Given the description of an element on the screen output the (x, y) to click on. 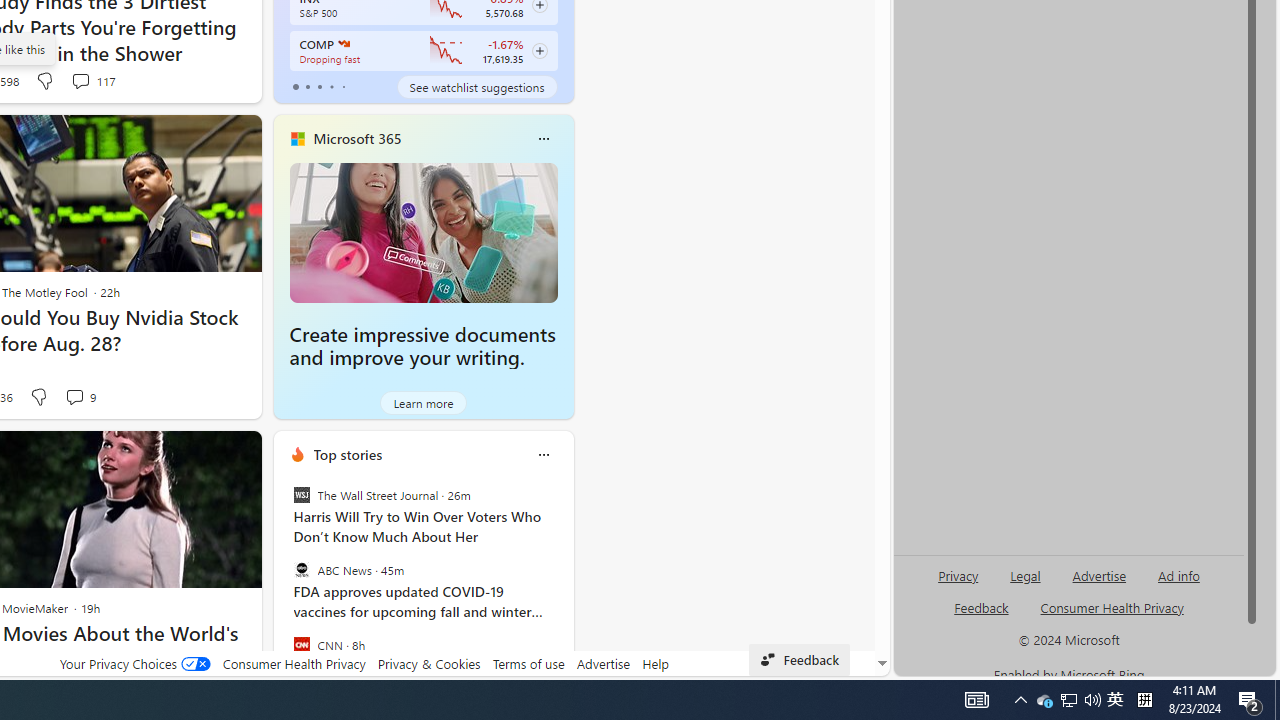
next (563, 583)
tab-2 (319, 86)
tab-3 (331, 86)
tab-1 (306, 86)
Your Privacy Choices (134, 663)
ABC News (301, 570)
Class: icon-img (543, 454)
Create impressive documents and improve your writing. (422, 346)
Privacy & Cookies (429, 663)
The Wall Street Journal (301, 494)
tab-0 (295, 86)
